Given the description of an element on the screen output the (x, y) to click on. 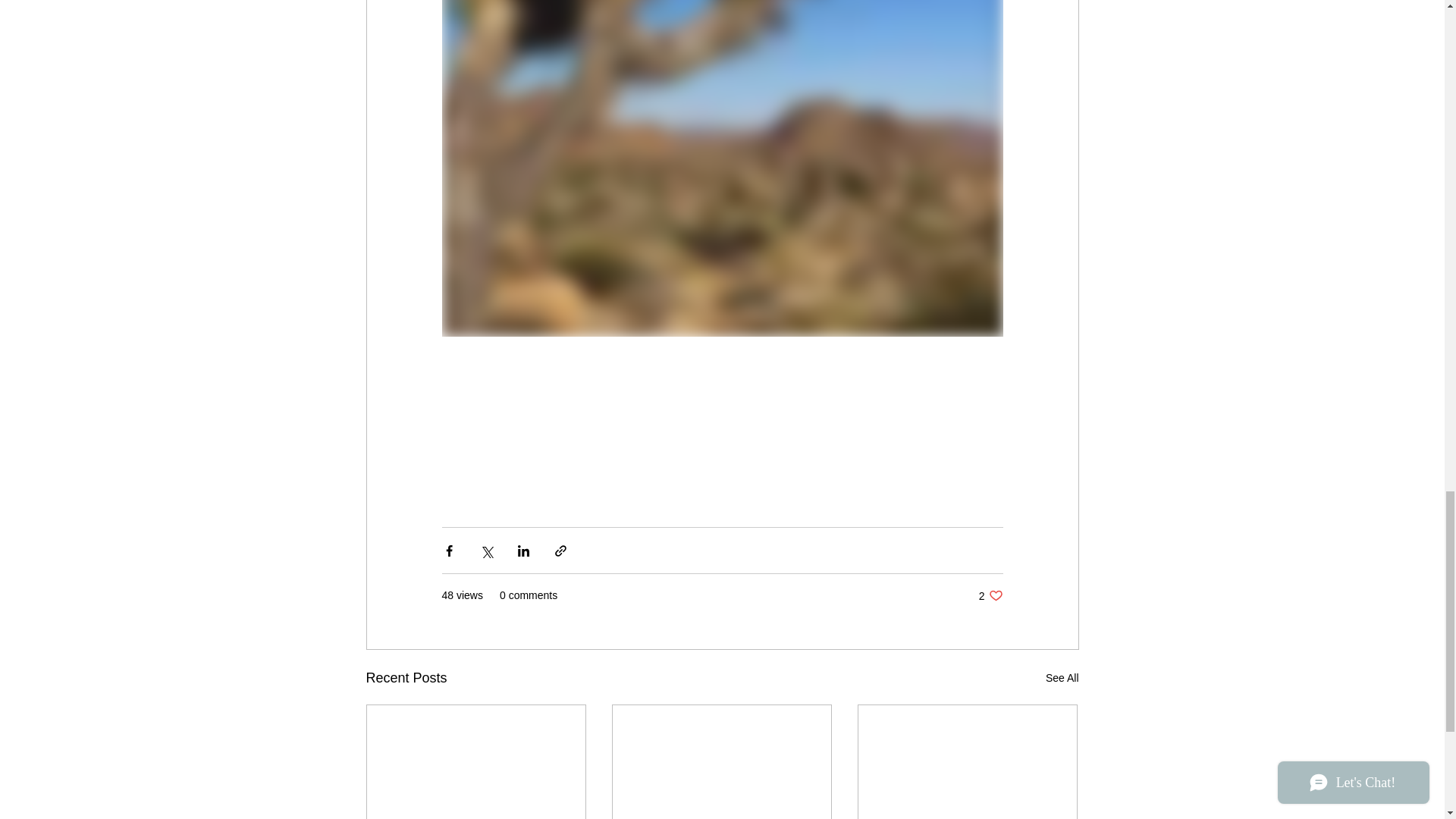
See All (1061, 678)
